Given the description of an element on the screen output the (x, y) to click on. 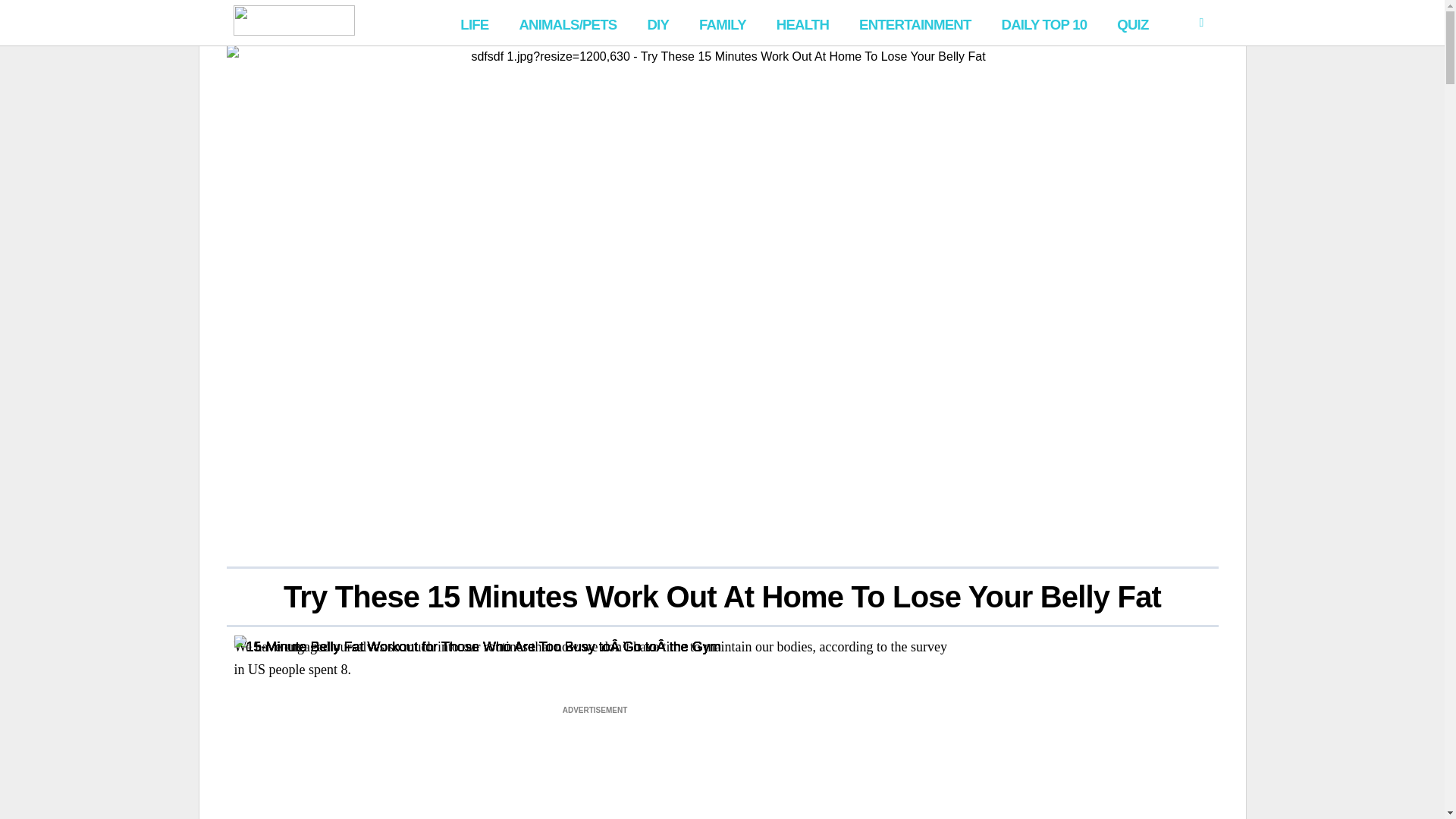
QUIZ (1132, 22)
ENTERTAINMENT (914, 22)
DAILY TOP 10 (1043, 22)
LIFE (474, 22)
FAMILY (722, 22)
HEALTH (801, 22)
